Given the description of an element on the screen output the (x, y) to click on. 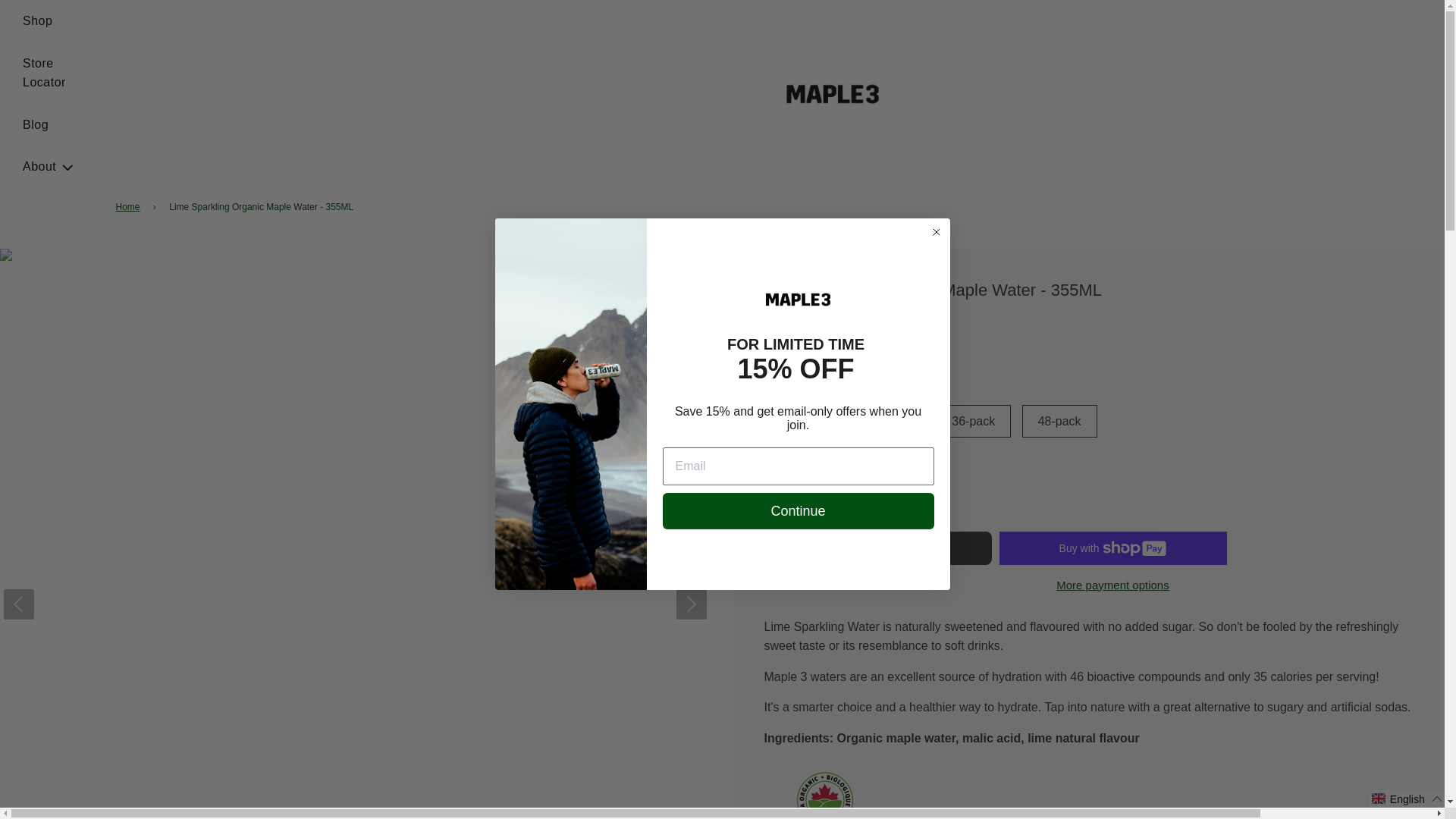
Shop (37, 21)
About (49, 166)
Store Locator (49, 73)
1 (796, 502)
Back to the frontpage (129, 206)
Blog (35, 125)
